Given the description of an element on the screen output the (x, y) to click on. 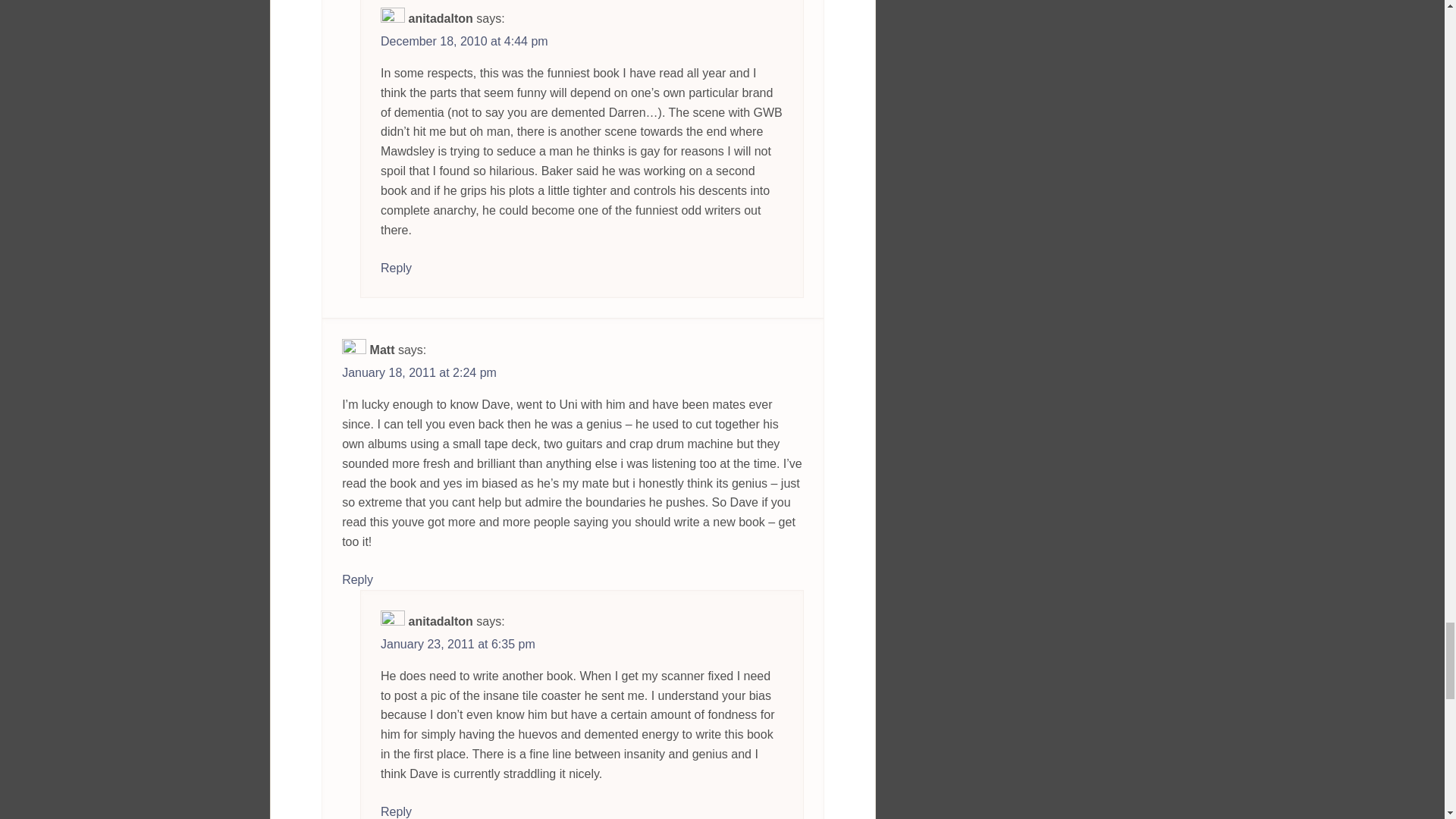
Reply (396, 268)
Reply (396, 812)
Reply (357, 580)
January 18, 2011 at 2:24 pm (419, 373)
January 23, 2011 at 6:35 pm (457, 644)
December 18, 2010 at 4:44 pm (464, 41)
